Given the description of an element on the screen output the (x, y) to click on. 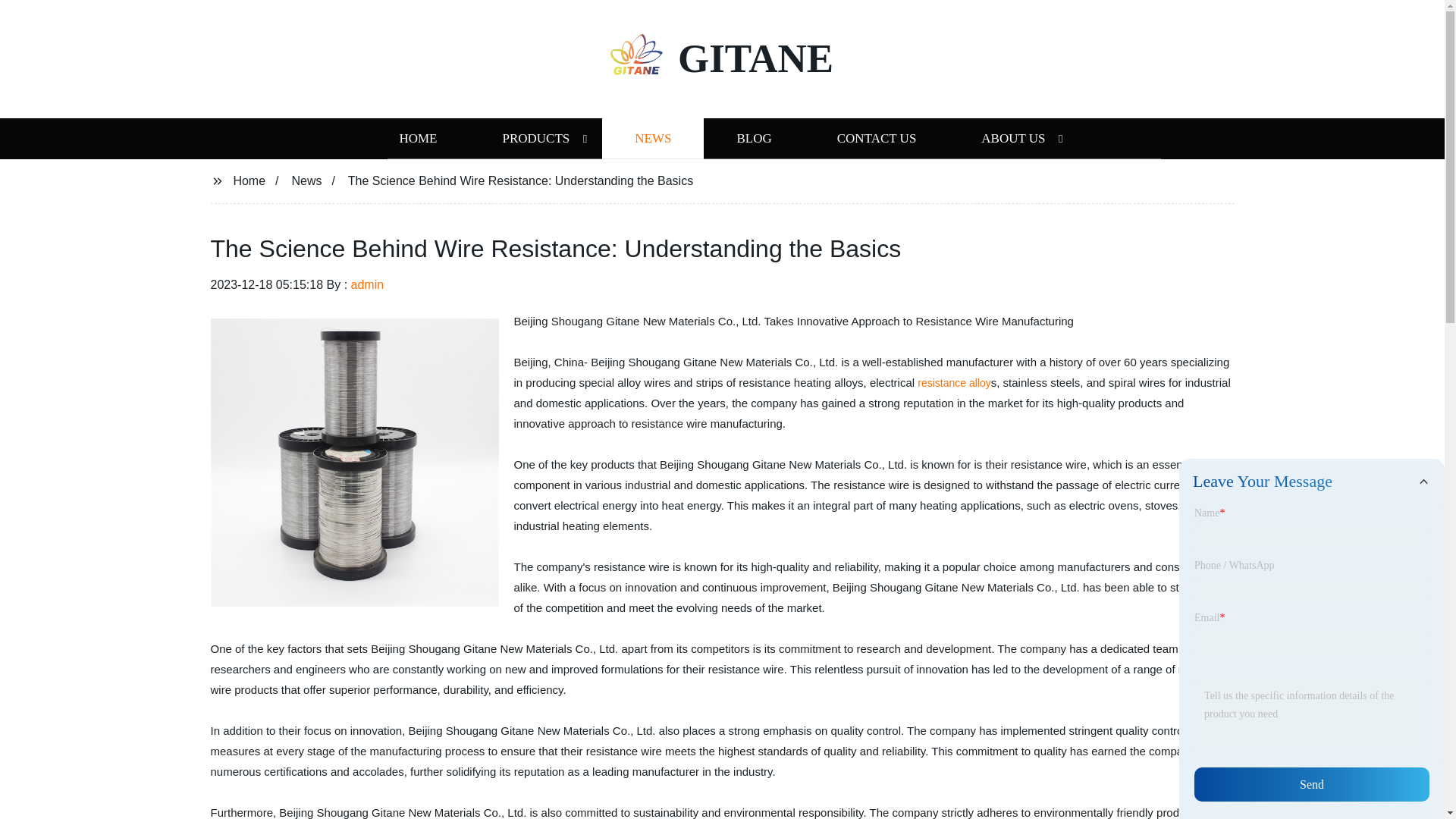
ABOUT US (1013, 137)
News (306, 180)
NEWS (652, 137)
HOME (417, 137)
PRODUCTS (535, 137)
CONTACT US (877, 137)
Home (248, 180)
resistance alloy (954, 382)
BLOG (753, 137)
Top (1404, 779)
